Given the description of an element on the screen output the (x, y) to click on. 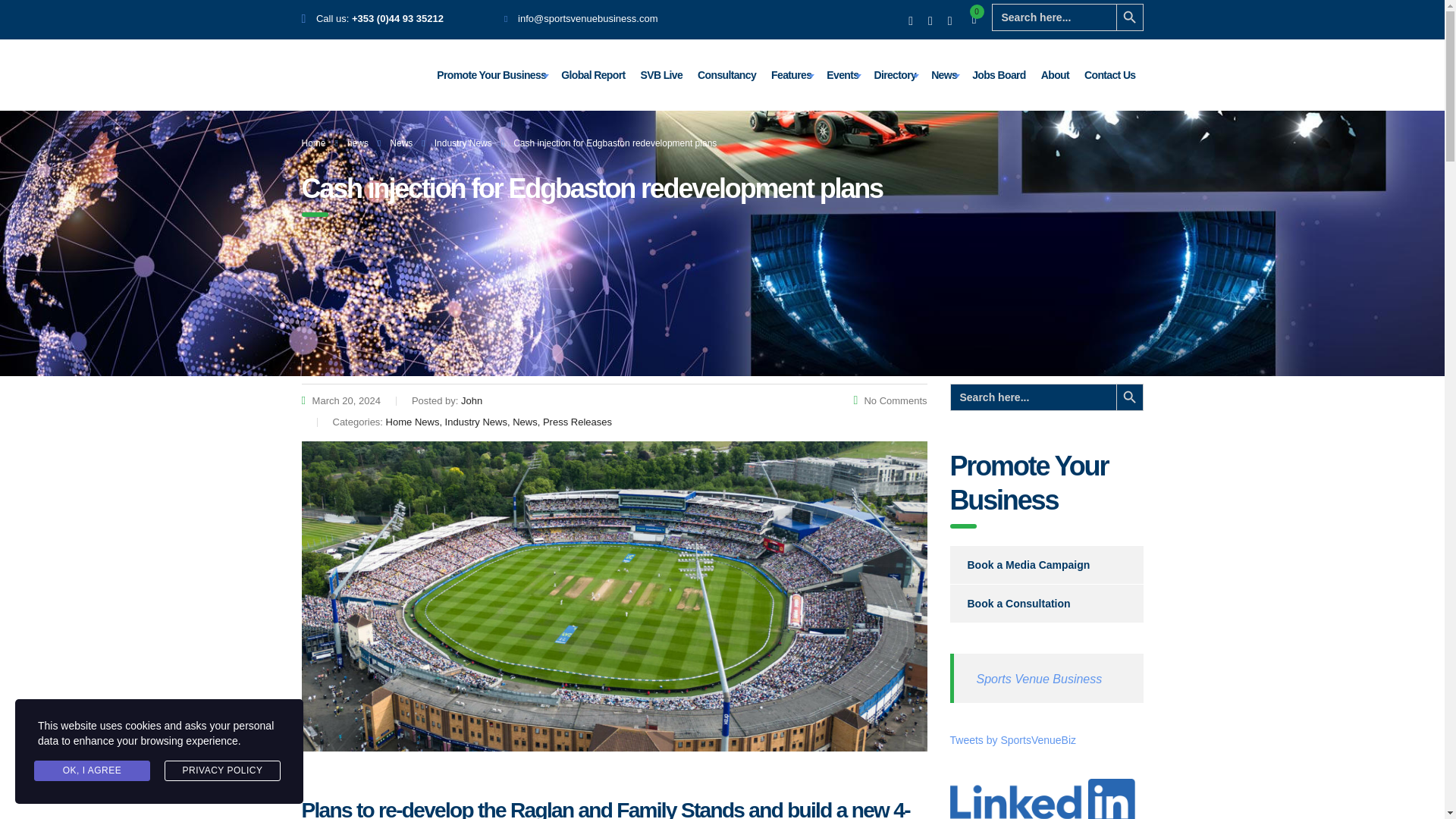
Search Button (1129, 17)
Go to news. (357, 143)
Go to the Industry News category archives. (462, 143)
Events (842, 74)
Consultancy (726, 74)
Promote Your Business (491, 74)
SVB Live (661, 74)
Global Report (592, 74)
Directory (894, 74)
Go to the News category archives. (401, 143)
